Given the description of an element on the screen output the (x, y) to click on. 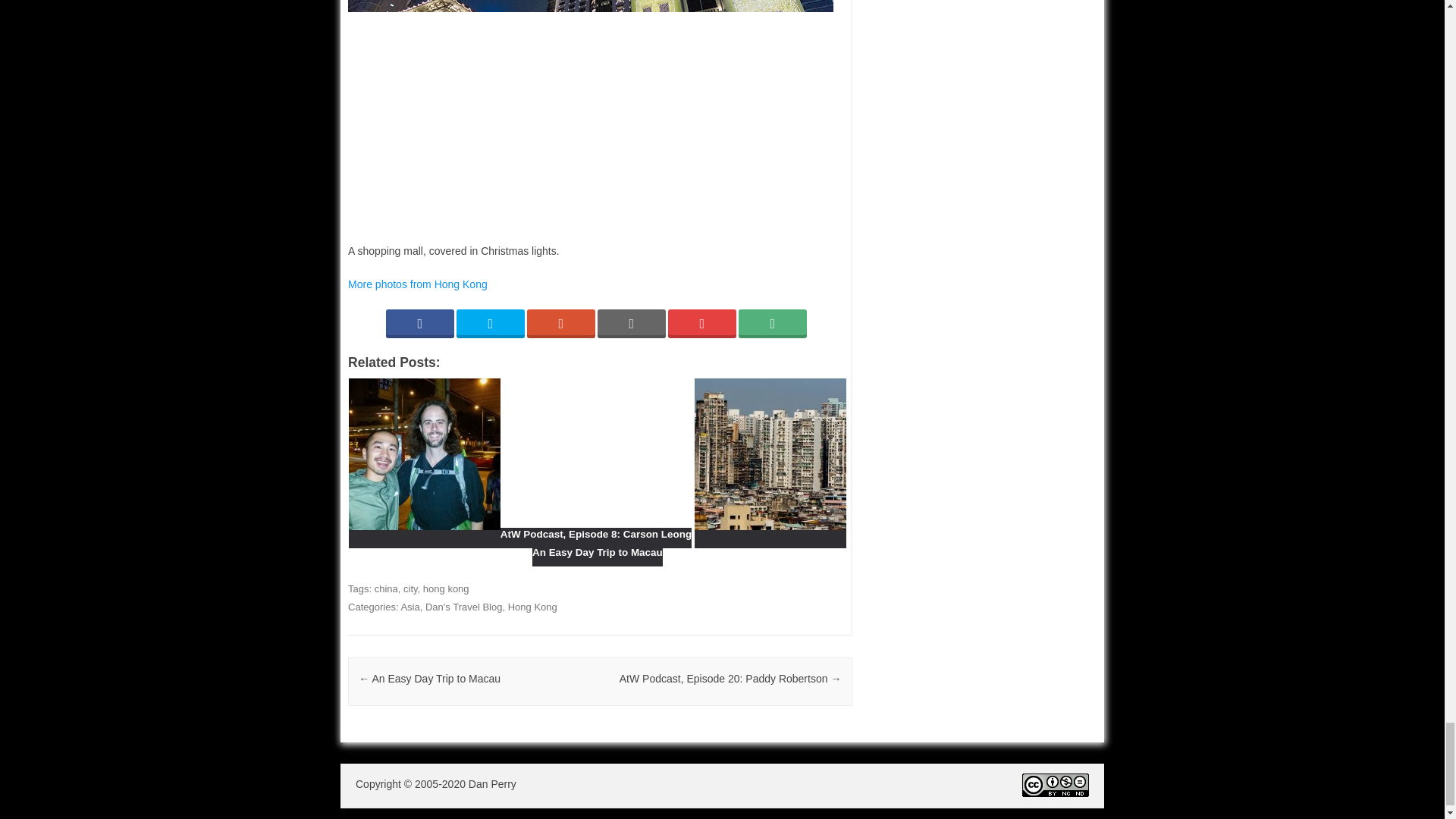
Click for more of photos from Hong Kong. (417, 284)
AtW Podcast, Episode 8: Carson Leong (520, 537)
An Easy Day Trip to Macau (688, 546)
More photos from Hong Kong (417, 284)
